Given the description of an element on the screen output the (x, y) to click on. 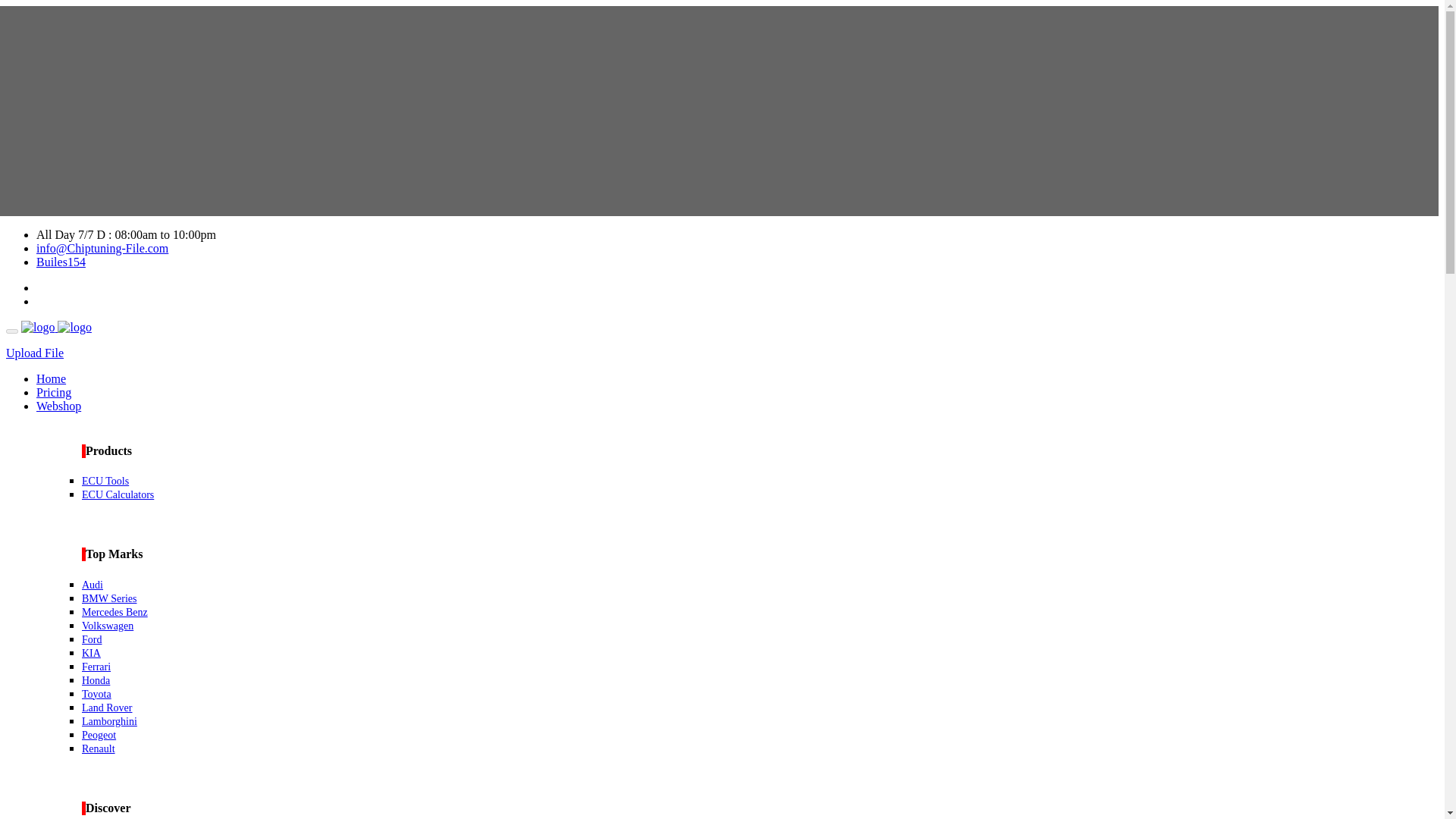
Audi (92, 584)
Peogeot (98, 735)
Toyota (96, 694)
Builes154 (60, 261)
Home (50, 378)
BMW Series (108, 598)
Renault (98, 748)
Ferrari (95, 666)
Lamborghini (108, 721)
ECU Calculators (117, 494)
Volkswagen (107, 625)
Land Rover (106, 707)
Pricing (53, 391)
Mercedes Benz (114, 612)
ECU Tools (105, 480)
